Given the description of an element on the screen output the (x, y) to click on. 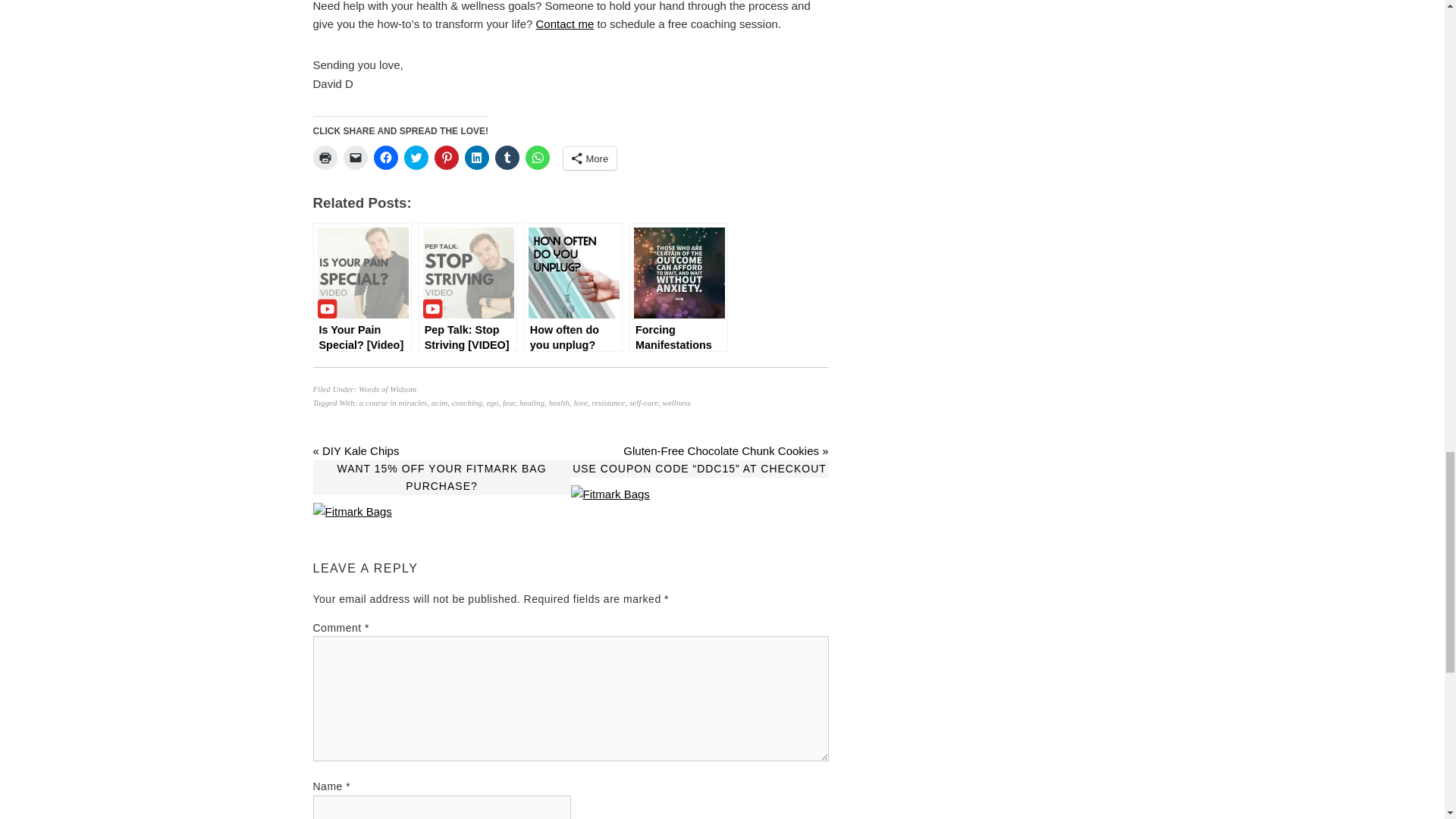
Click to share on Tumblr (506, 157)
Click to share on Pinterest (445, 157)
Click to share on LinkedIn (475, 157)
Click to share on WhatsApp (536, 157)
Click to share on Twitter (415, 157)
Click to print (324, 157)
Click to share on Facebook (384, 157)
More (588, 158)
Contact me (564, 23)
Click to email a link to a friend (354, 157)
